Given the description of an element on the screen output the (x, y) to click on. 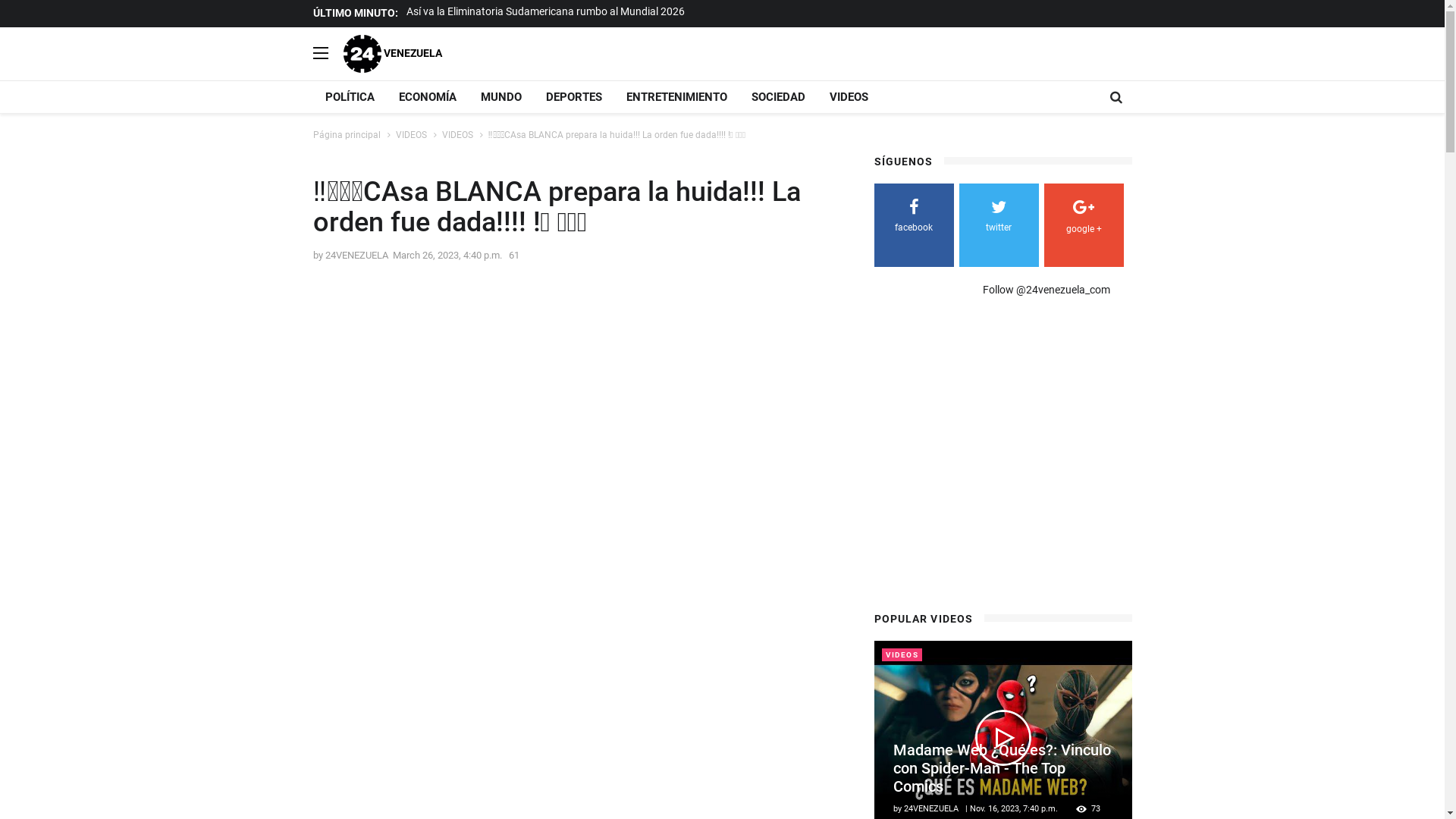
Advertisement Element type: hover (1000, 460)
Hice AMAZING DIGITAL CIRCUS en RTX Element type: text (498, 11)
Advertisement Element type: hover (756, 384)
SOCIEDAD Element type: text (777, 96)
MUNDO Element type: text (500, 96)
twitter Element type: text (998, 218)
VENEZUELA Element type: text (391, 53)
facebook Element type: text (913, 218)
ENTRETENIMIENTO Element type: text (676, 96)
VIDEOS Element type: text (410, 134)
DEPORTES Element type: text (573, 96)
VIDEOS Element type: text (848, 96)
VIDEOS Element type: text (456, 134)
Follow @24venezuela_com Element type: text (1046, 289)
google + Element type: text (1083, 219)
